Given the description of an element on the screen output the (x, y) to click on. 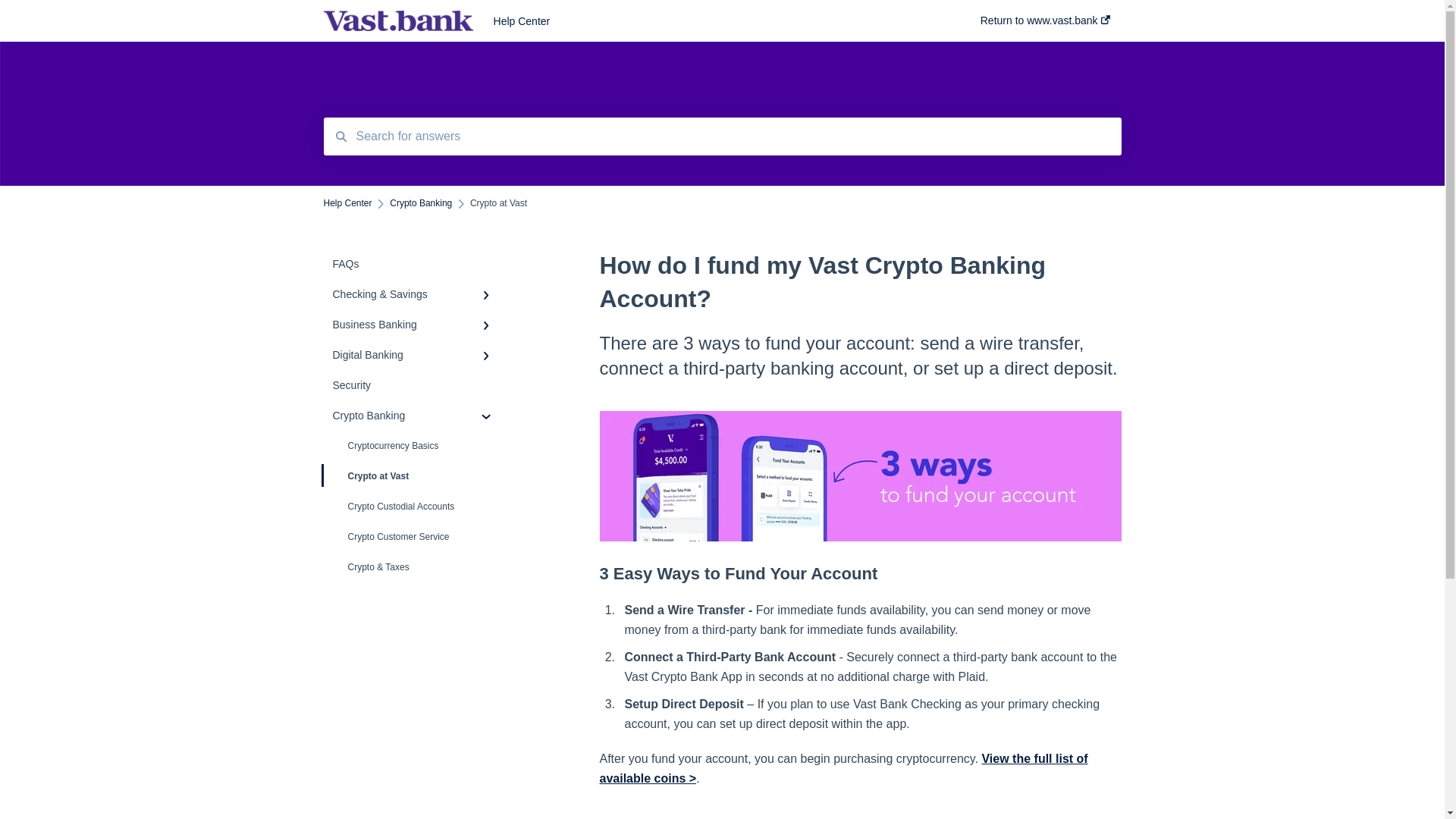
Checking & Savings Element type: text (414, 294)
Cryptocurrency Basics Element type: text (414, 445)
Help Center Element type: text (714, 21)
Business Banking Element type: text (414, 324)
Crypto Custodial Accounts Element type: text (414, 506)
Crypto & Taxes Element type: text (414, 567)
Crypto at Vast Element type: text (414, 476)
Crypto Banking Element type: text (420, 202)
Help Center Element type: text (347, 202)
FAQs Element type: text (414, 263)
Security Element type: text (414, 385)
Digital Banking Element type: text (414, 354)
Crypto Banking Element type: text (414, 415)
View the full list of available coins > Element type: text (843, 768)
Crypto Customer Service Element type: text (414, 536)
